Given the description of an element on the screen output the (x, y) to click on. 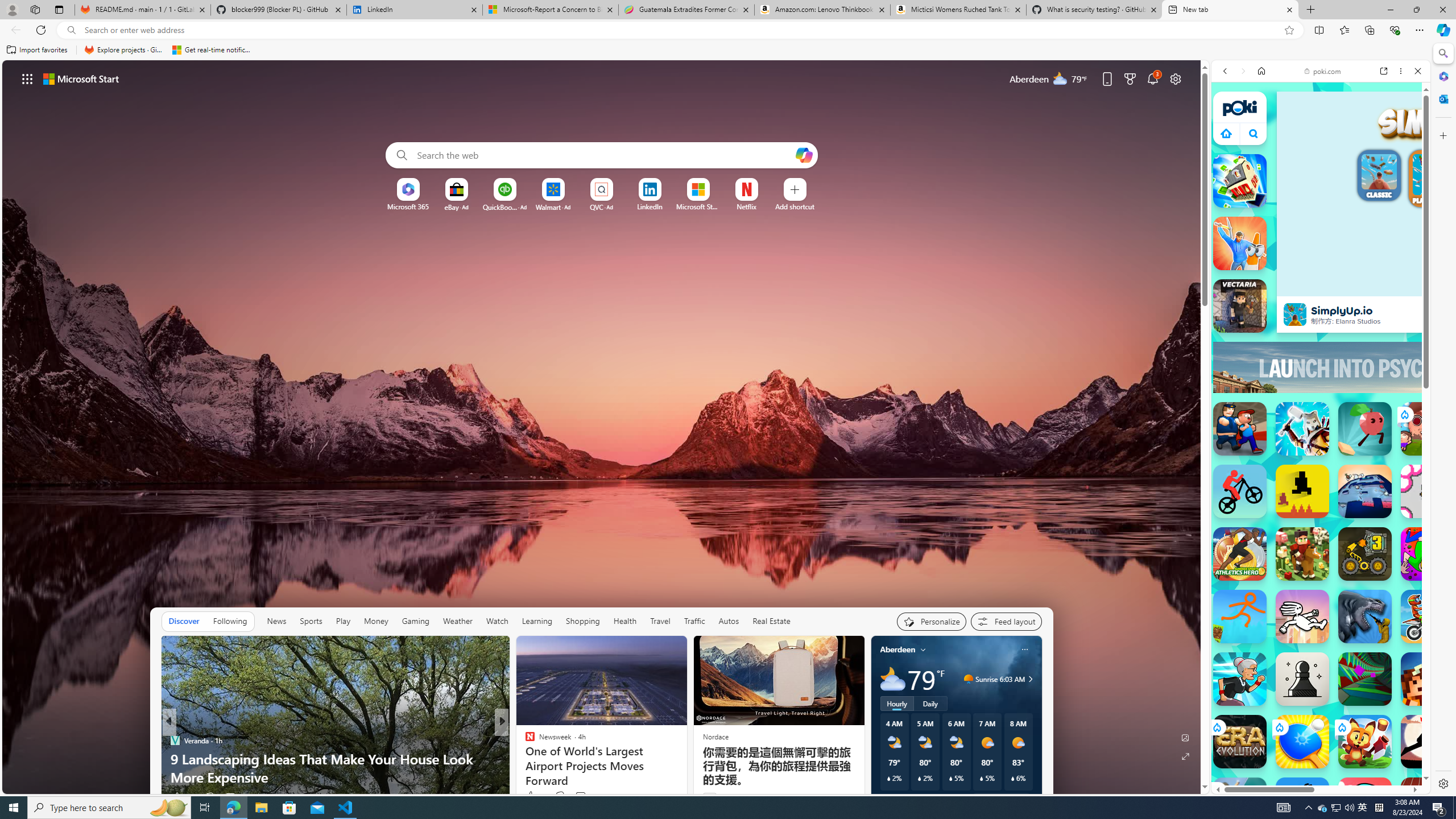
JollyWorld JollyWorld (1427, 553)
The Independent (524, 740)
View comments 33 Comment (580, 797)
Car Games (1320, 286)
Search results from poki.com (1299, 462)
Level Devil Level Devil (1302, 491)
Show More Car Games (1390, 287)
395 Like (532, 796)
Show More Games for Girls (1390, 427)
